Given the description of an element on the screen output the (x, y) to click on. 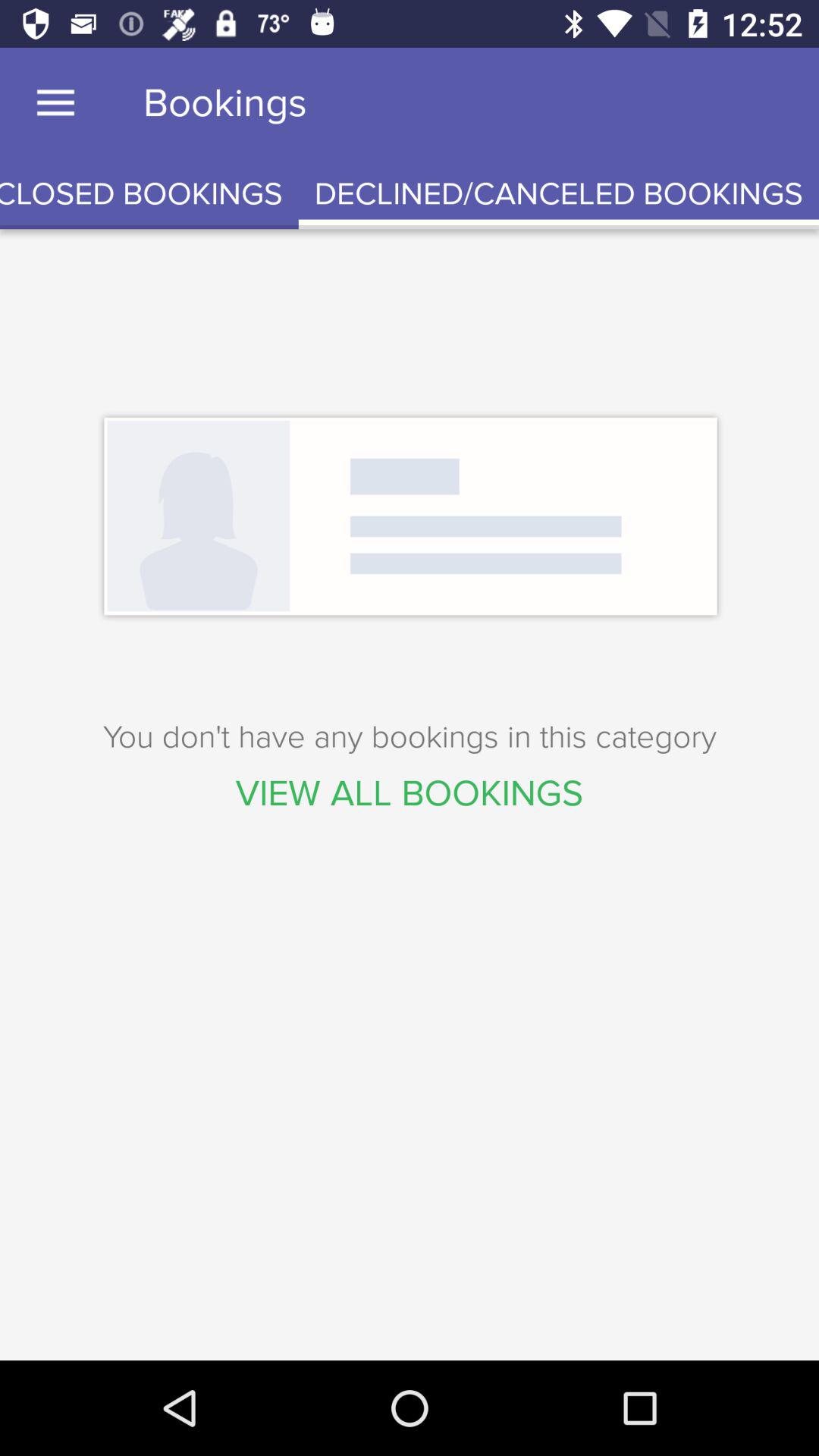
press the item to the right of the expired/closed bookings (558, 194)
